Given the description of an element on the screen output the (x, y) to click on. 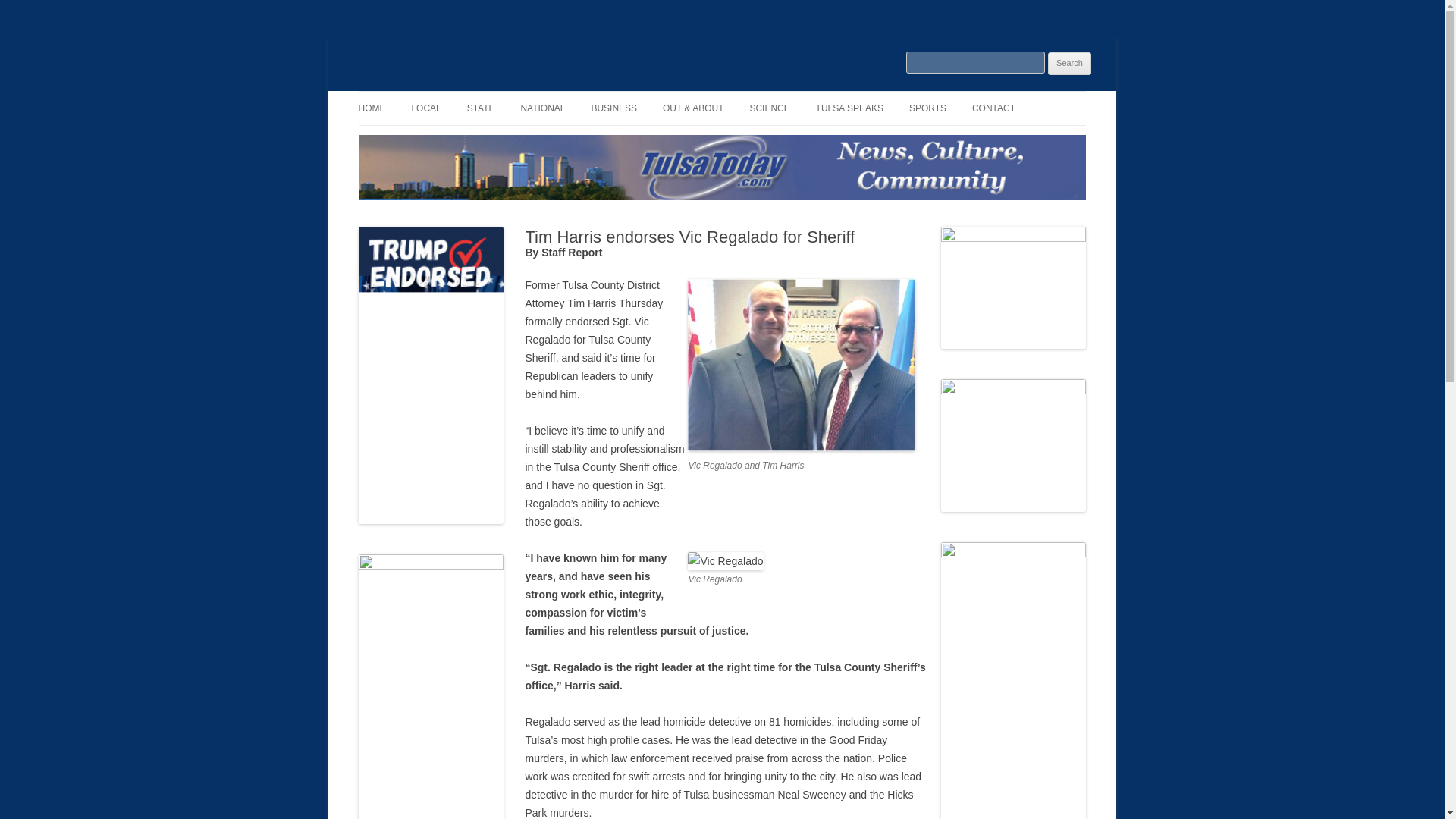
CONTACT (993, 108)
Search (1069, 63)
SCIENCE (769, 108)
Skip to content (757, 95)
NATIONAL (541, 108)
Skip to content (757, 95)
TULSA SPEAKS (849, 108)
BUSINESS (614, 108)
SPORTS (927, 108)
Search (1069, 63)
